Given the description of an element on the screen output the (x, y) to click on. 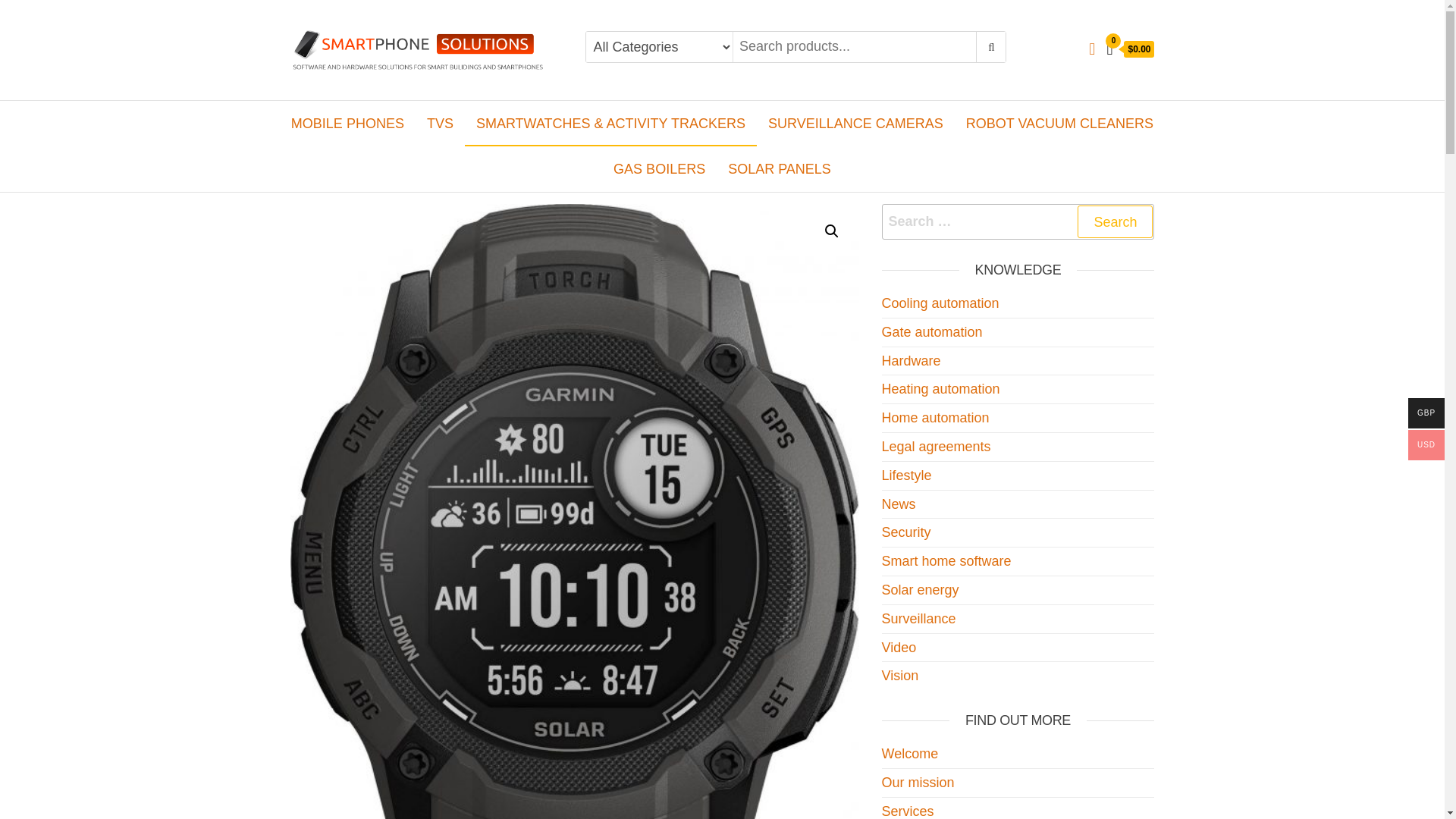
SOLAR PANELS (779, 168)
Robot Vacuum Cleaners (1059, 123)
ROBOT VACUUM CLEANERS (1059, 123)
SURVEILLANCE CAMERAS (856, 123)
Mobile Phones (346, 123)
TVS (439, 123)
Search (1115, 221)
Solar Panels (779, 168)
Surveillance Cameras (856, 123)
MOBILE PHONES (346, 123)
